Given the description of an element on the screen output the (x, y) to click on. 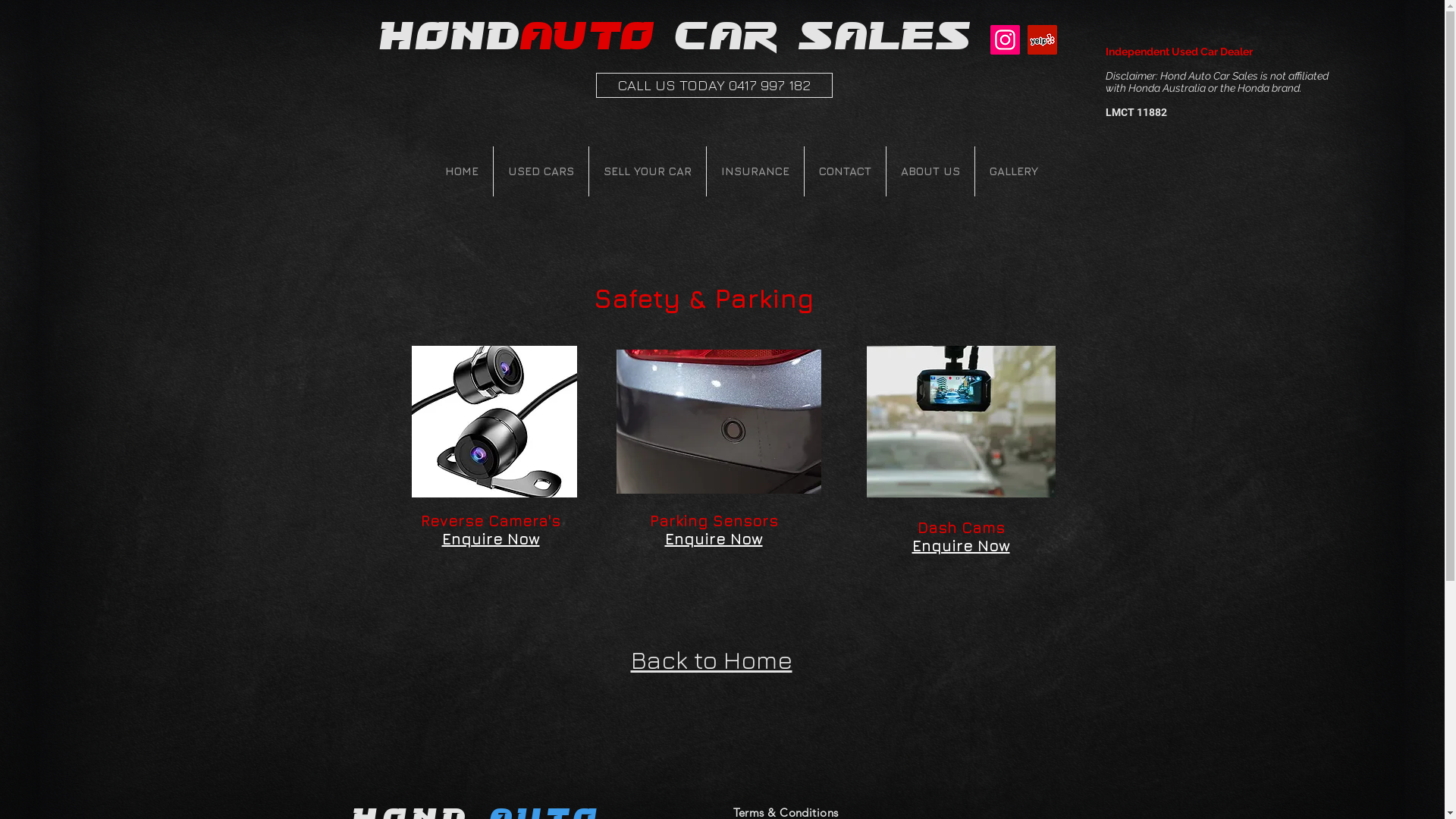
HOME Element type: text (461, 171)
Enquire Now Element type: text (713, 539)
ABOUT US Element type: text (929, 171)
USED CARS Element type: text (539, 171)
CONTACT Element type: text (843, 171)
GALLERY Element type: text (1013, 171)
Back to Home Element type: text (711, 659)
Enquire Now Element type: text (960, 545)
INSURANCE Element type: text (754, 171)
CALL US TODAY 0417 997 182 Element type: text (714, 84)
SELL YOUR CAR Element type: text (646, 171)
Enquire Now Element type: text (490, 539)
